Given the description of an element on the screen output the (x, y) to click on. 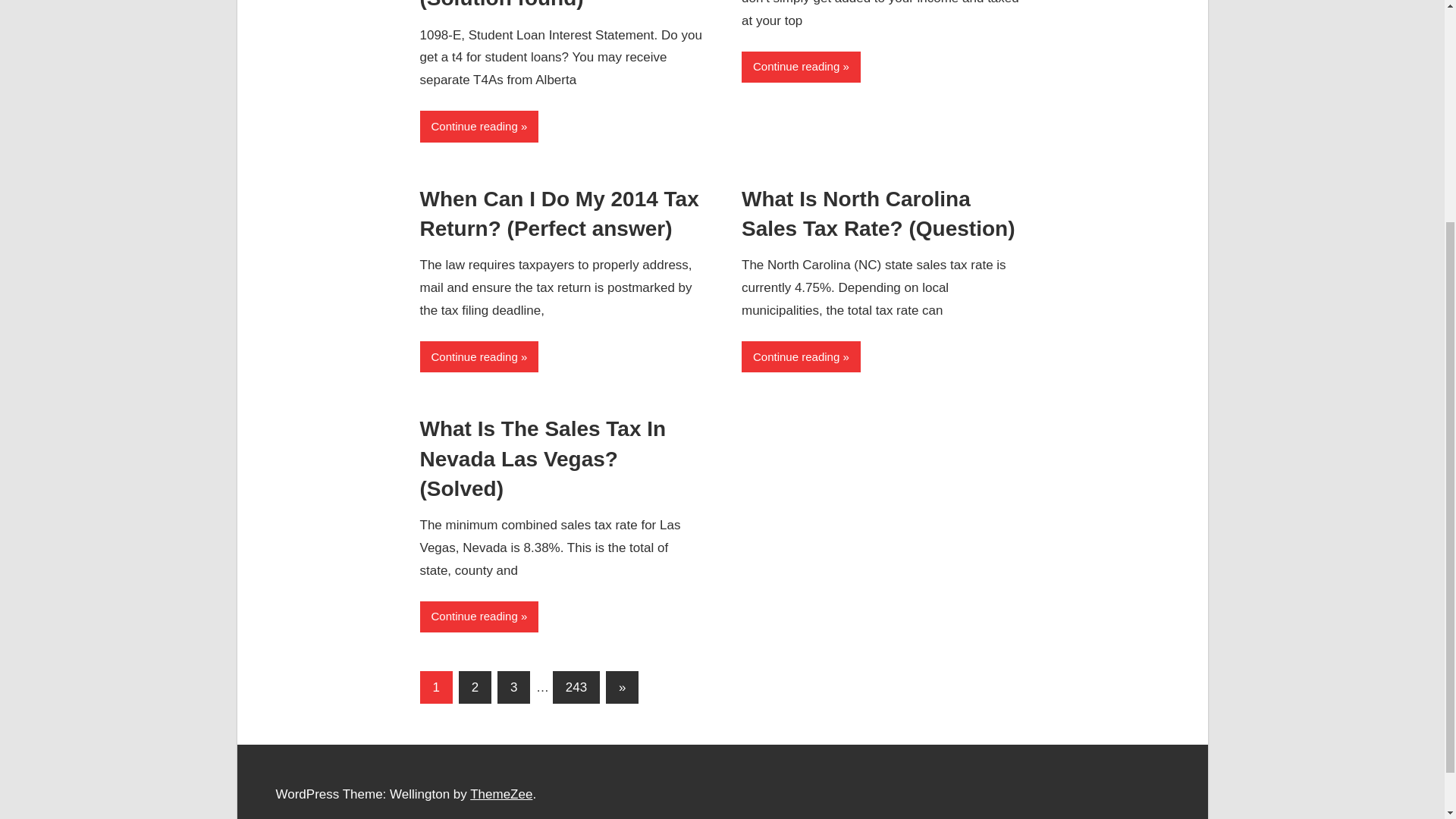
2 (475, 686)
3 (513, 686)
243 (576, 686)
Continue reading (479, 356)
Continue reading (479, 125)
Continue reading (479, 616)
Continue reading (800, 66)
Continue reading (800, 356)
ThemeZee (501, 794)
